Given the description of an element on the screen output the (x, y) to click on. 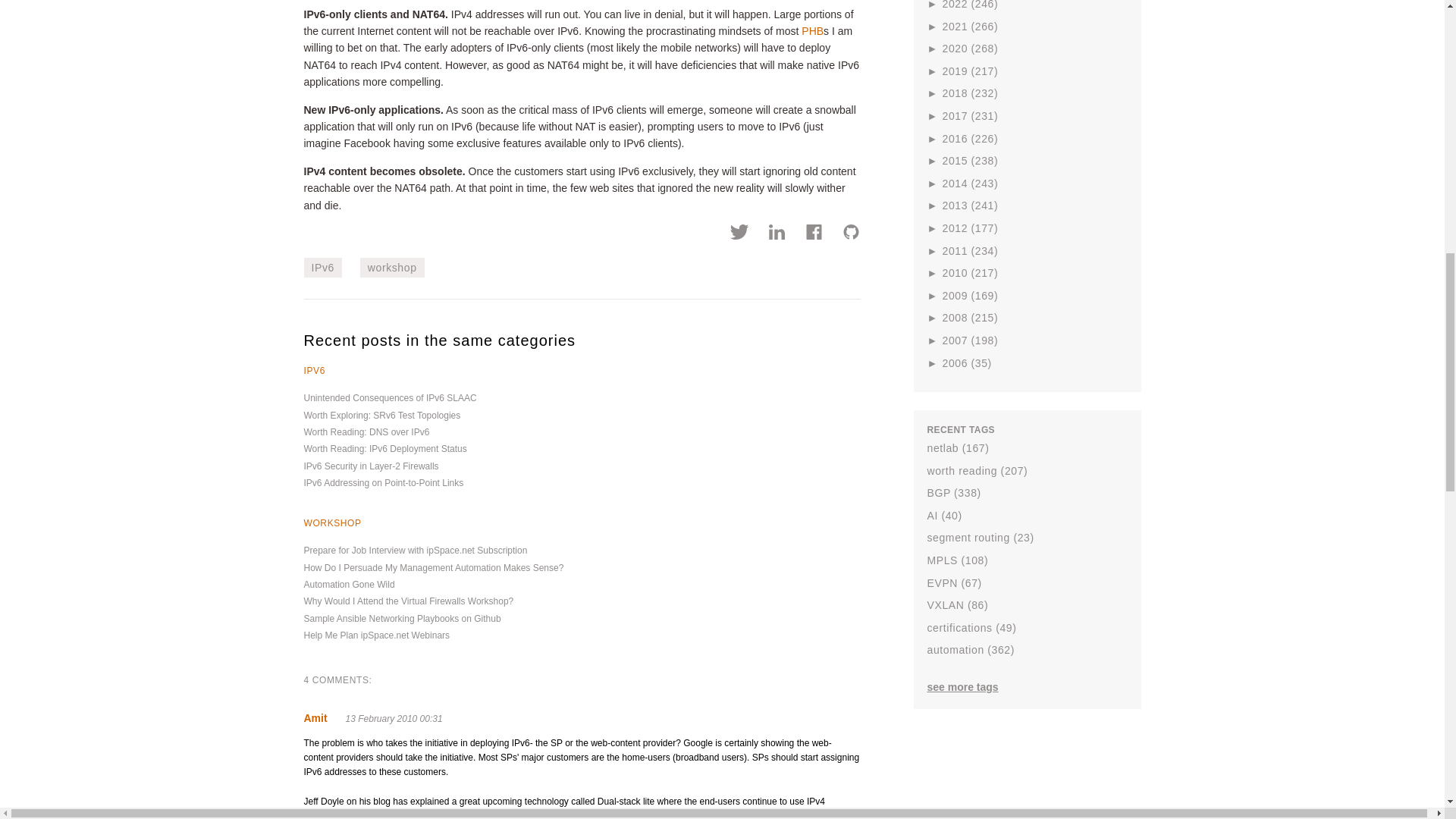
Share to LinkedIn (776, 234)
PHB (813, 30)
Share to Facebook (814, 234)
GitHub Source (850, 234)
Share to Twitter (739, 234)
